Given the description of an element on the screen output the (x, y) to click on. 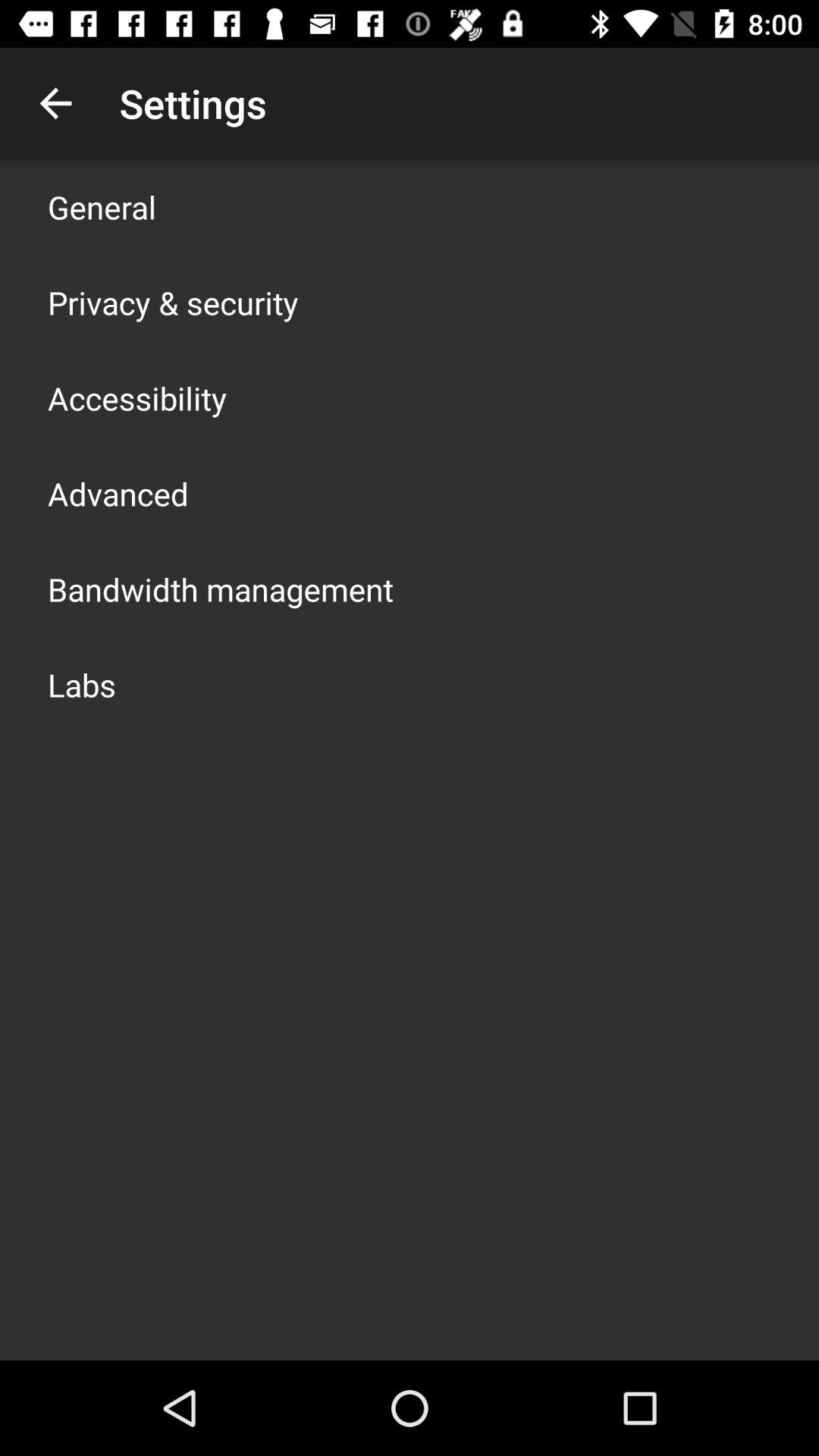
select the app below advanced icon (220, 588)
